Given the description of an element on the screen output the (x, y) to click on. 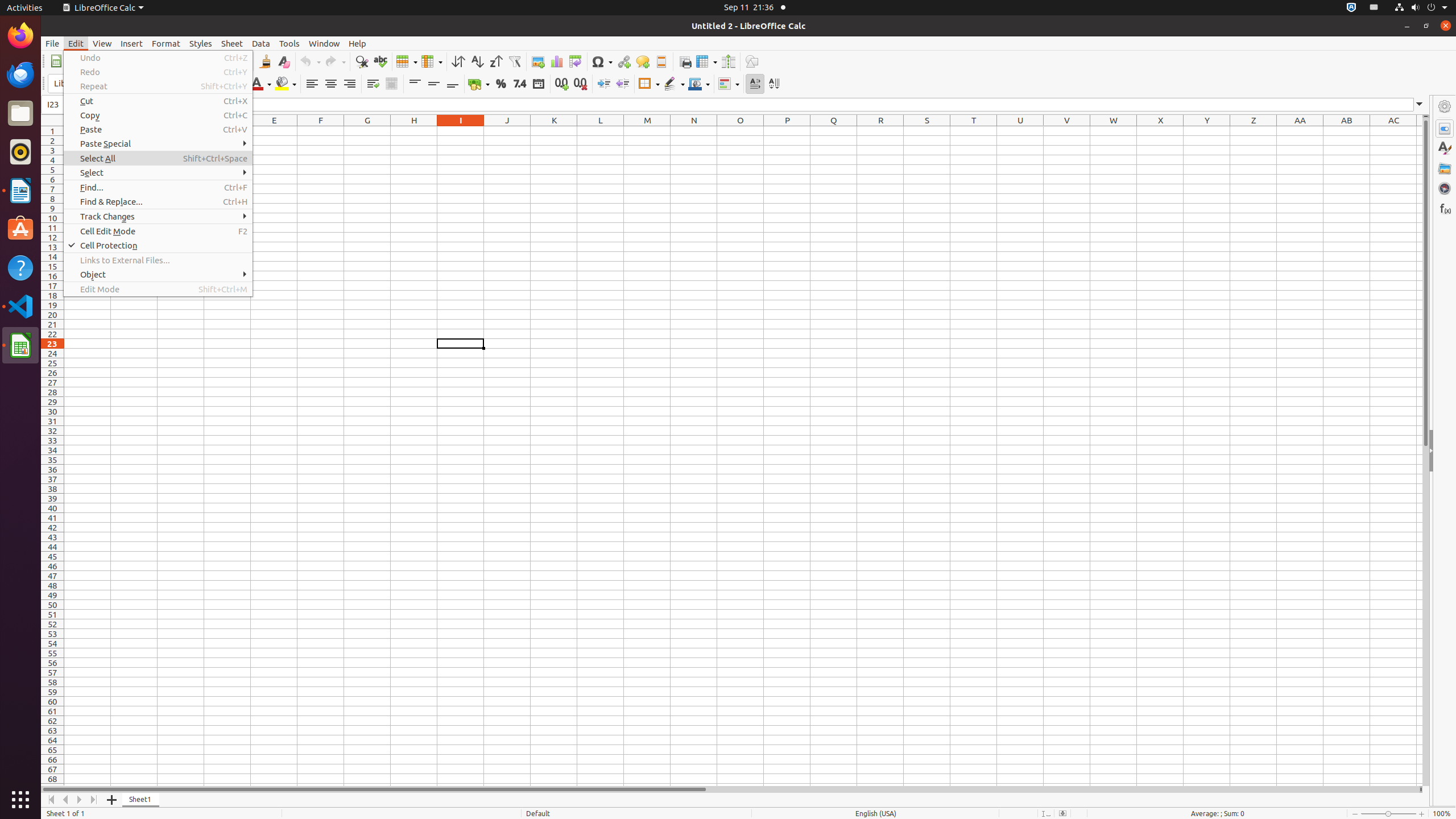
Select All Element type: menu-item (157, 158)
Redo Element type: push-button (334, 61)
AutoFilter Element type: push-button (514, 61)
Edit Element type: menu (75, 43)
Number Element type: push-button (519, 83)
